Given the description of an element on the screen output the (x, y) to click on. 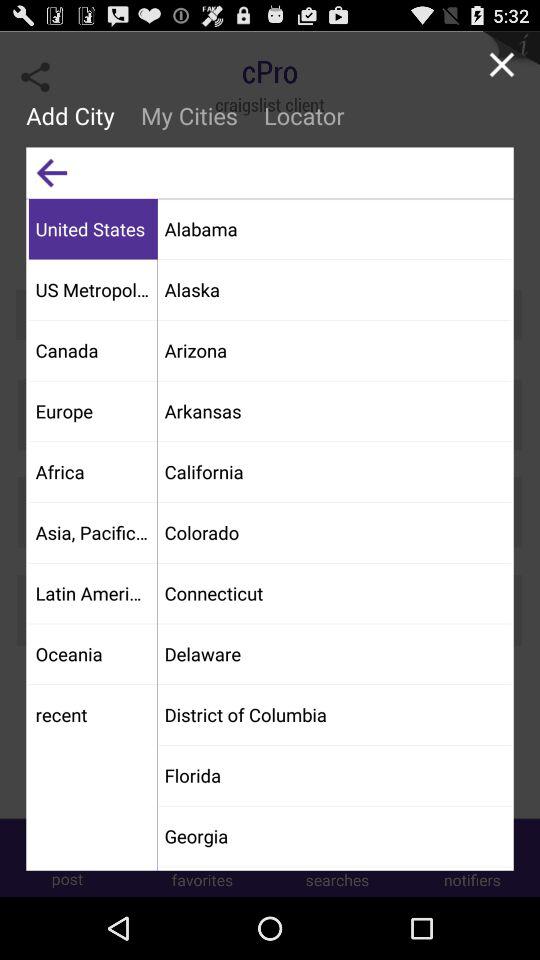
launch item below the europe item (92, 471)
